Given the description of an element on the screen output the (x, y) to click on. 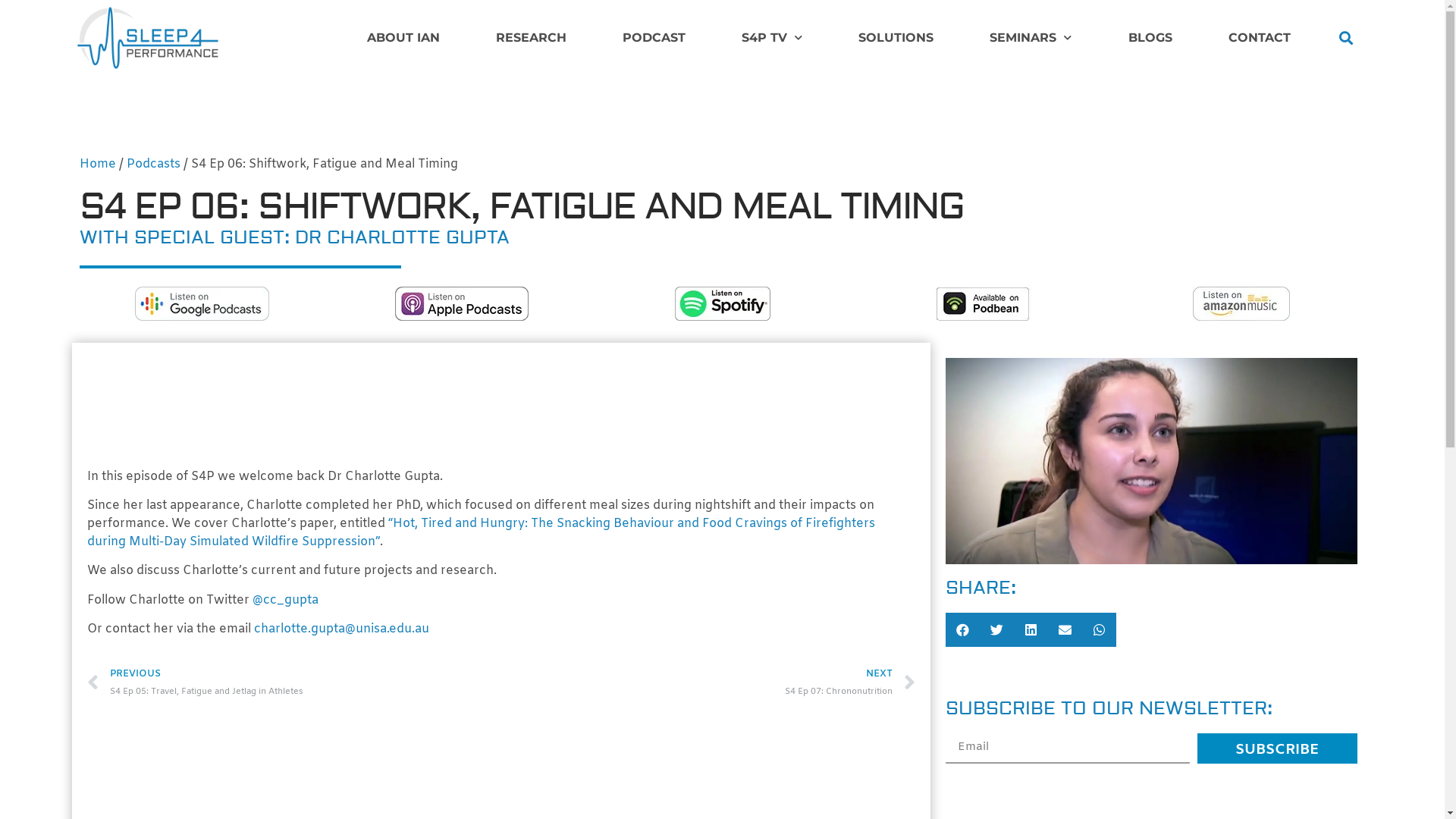
RESEARCH Element type: text (530, 37)
@cc_gupta Element type: text (285, 600)
CONTACT Element type: text (1259, 37)
SUBSCRIBE Element type: text (1277, 748)
PREVIOUS
S4 Ep 05: Travel, Fatigue and Jetlag in Athletes Element type: text (293, 683)
Podcasts Element type: text (153, 164)
SOLUTIONS Element type: text (895, 37)
S4P TV Element type: text (771, 37)
PODCAST Element type: text (654, 37)
charlotte.gupta@unisa.edu.au Element type: text (341, 629)
Home Element type: text (97, 164)
ABOUT IAN Element type: text (403, 37)
SEMINARS Element type: text (1030, 37)
NEXT
S4 Ep 07: Chrononutrition Element type: text (708, 683)
BLOGS Element type: text (1149, 37)
